Given the description of an element on the screen output the (x, y) to click on. 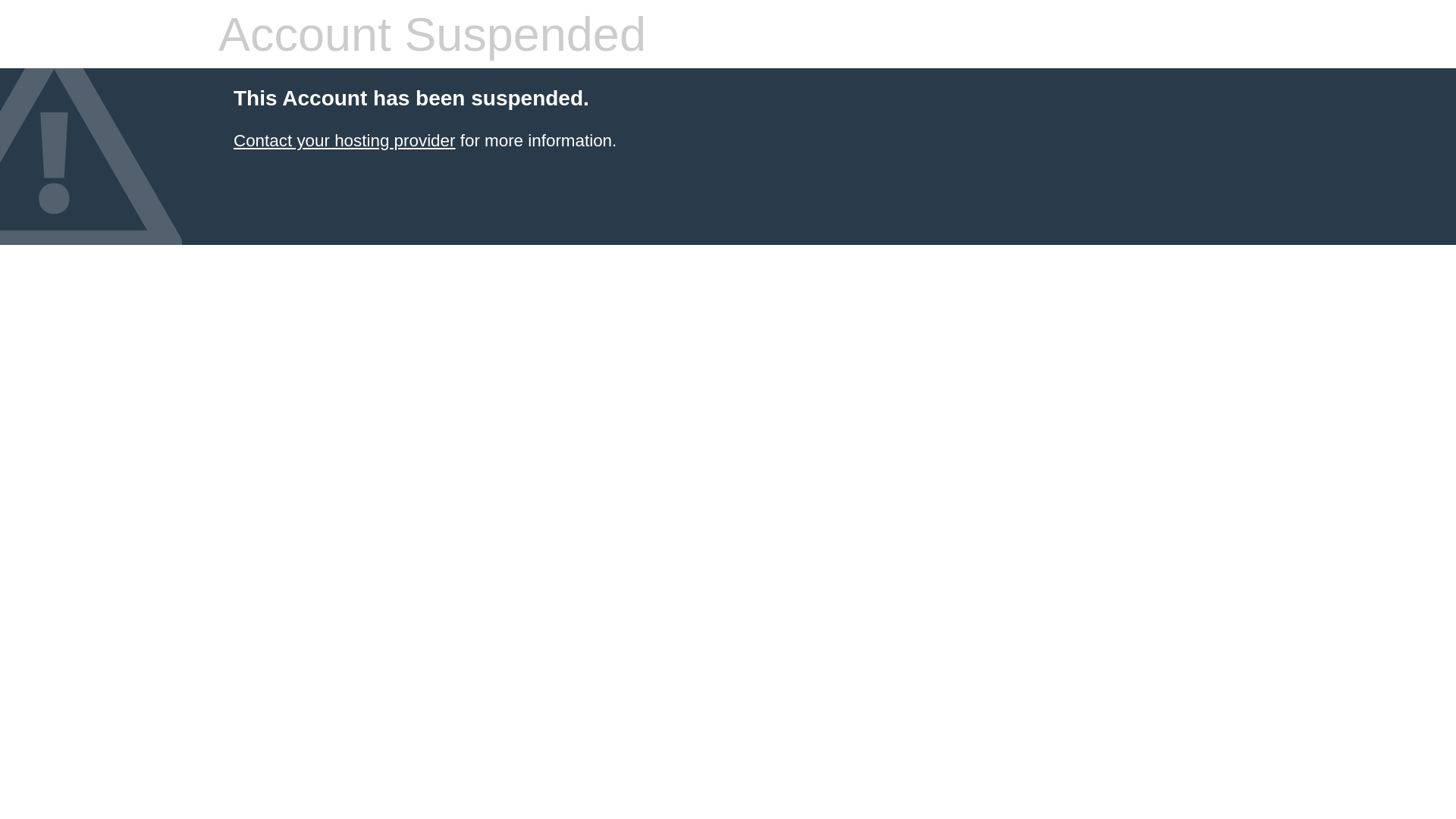
Contact your hosting provider Element type: text (344, 140)
